Given the description of an element on the screen output the (x, y) to click on. 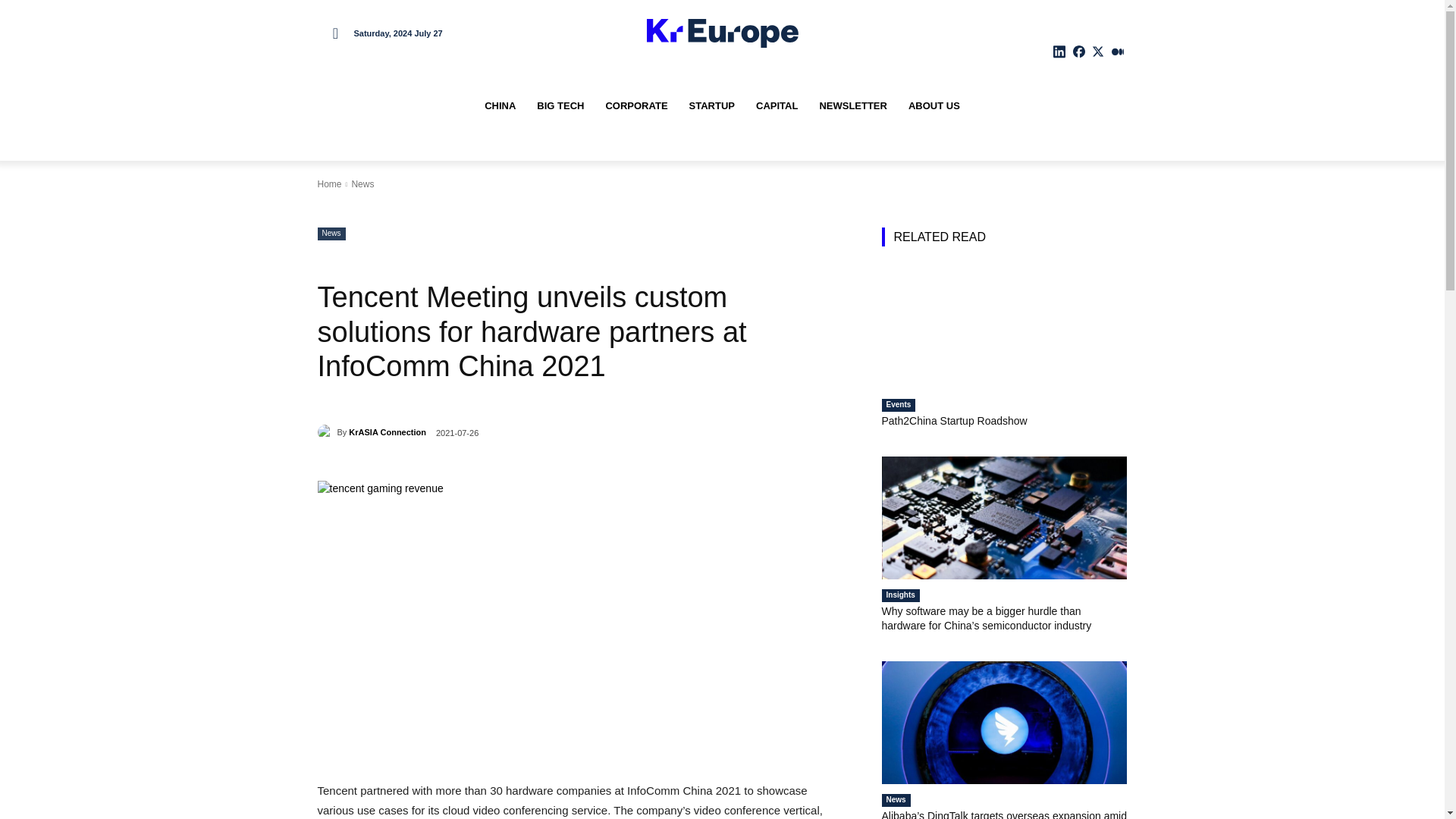
News (331, 233)
ABOUT US (934, 105)
BIG TECH (559, 105)
NEWSLETTER (853, 105)
KrASIA Connection (326, 432)
CORPORATE (636, 105)
KrASIA Connection (387, 431)
News (362, 184)
STARTUP (711, 105)
View all posts in News (362, 184)
CHINA (499, 105)
Home (328, 184)
CAPITAL (776, 105)
